Given the description of an element on the screen output the (x, y) to click on. 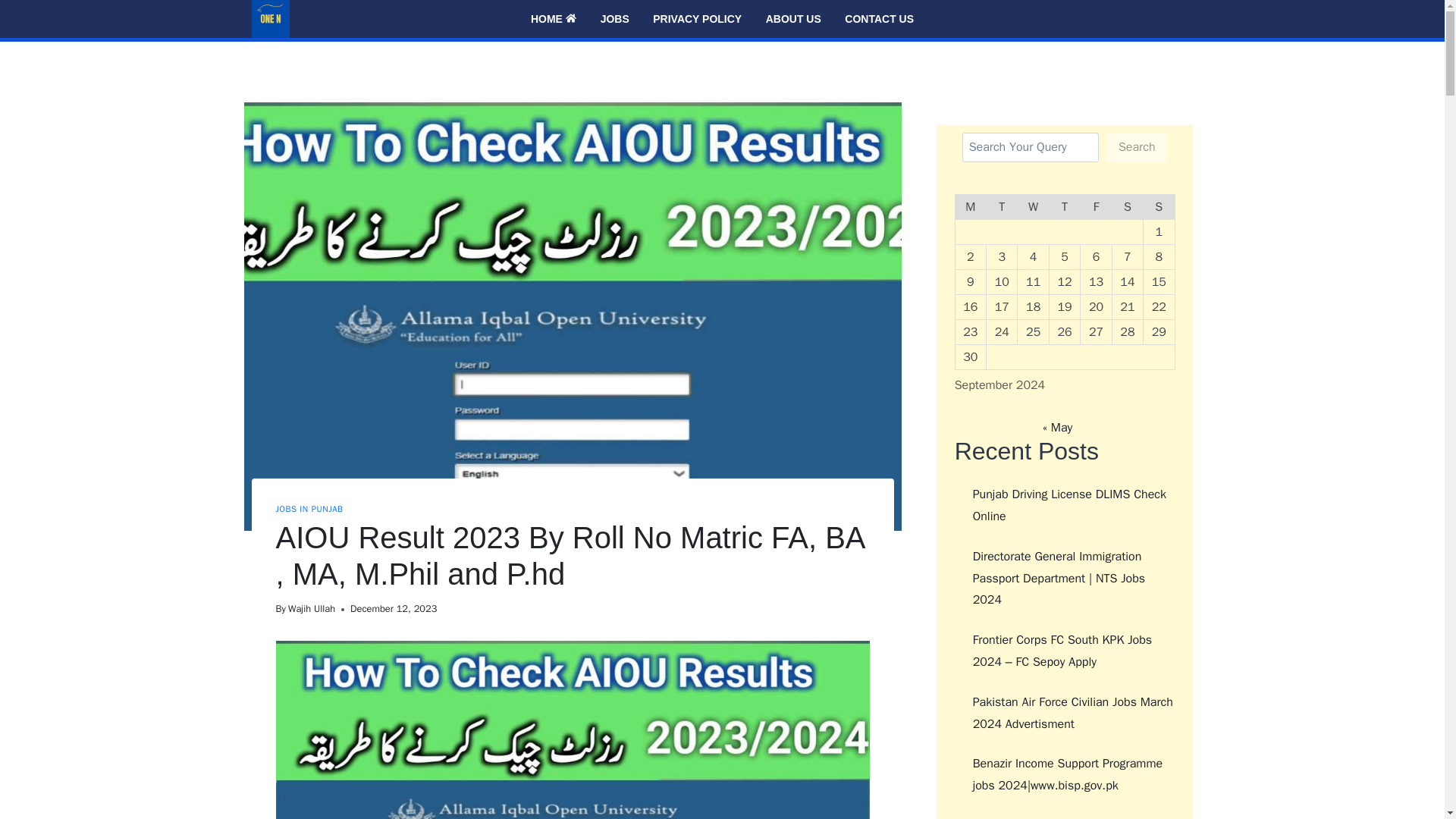
ABOUT US (793, 18)
Wednesday (1032, 206)
Wajih Ullah (311, 608)
Saturday (1127, 206)
JOBS IN PUNJAB (309, 508)
Thursday (1064, 206)
Friday (1096, 206)
HOME (553, 18)
Monday (970, 206)
CONTACT US (879, 18)
